Given the description of an element on the screen output the (x, y) to click on. 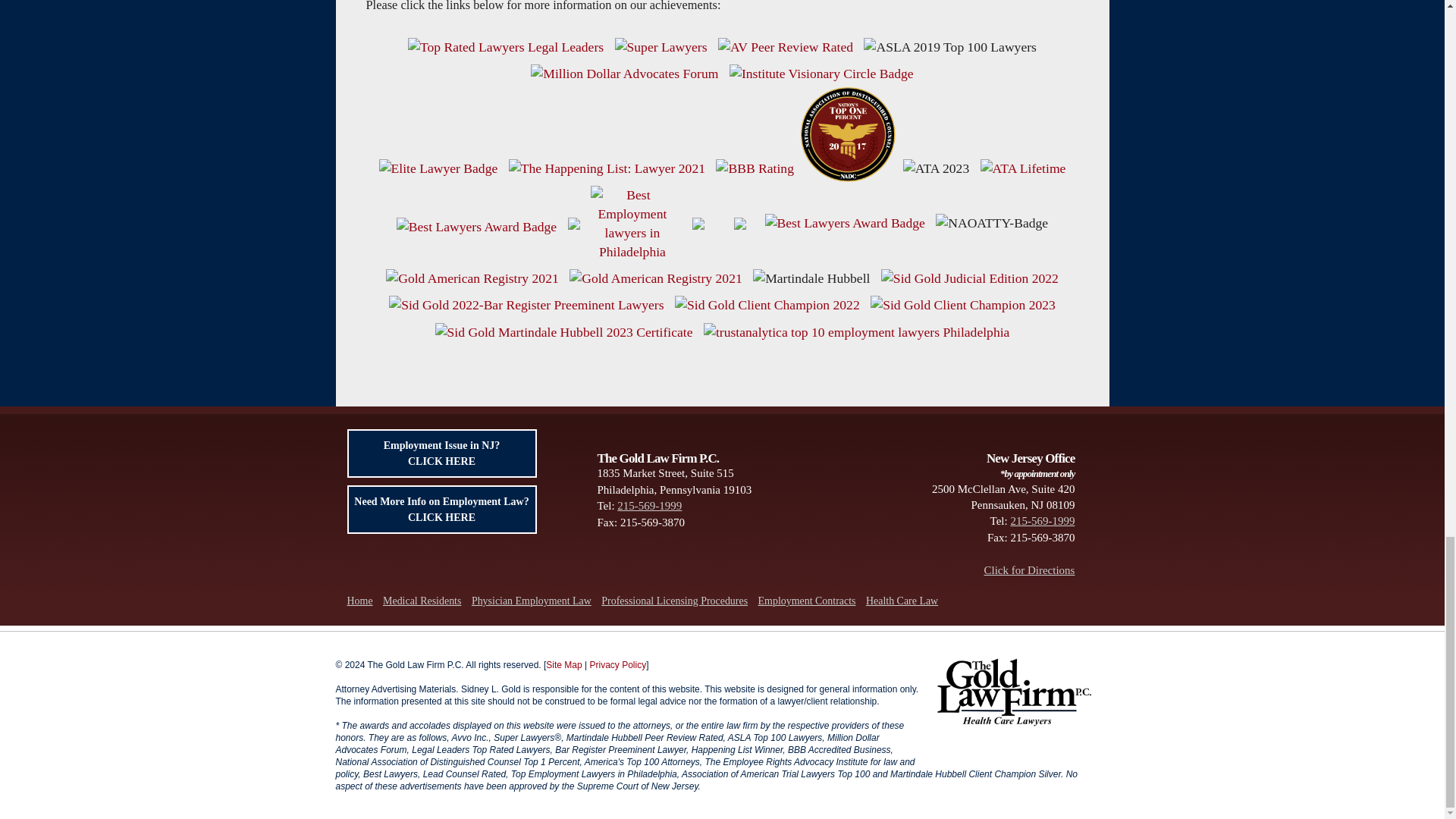
View Profile (438, 168)
ATA Lifetime (1022, 168)
Top Rated Lawyers Legal Leaders (505, 46)
BBB Rating (754, 168)
The Happening List: Lawyer 2021 (606, 168)
Super Lawyers (660, 46)
Million Dollar Advocates Forum (624, 73)
AV Peer Review Rated (785, 46)
Martindale Hubbell (810, 278)
ASLA 2019 Top 100 Lawyers (949, 46)
